Given the description of an element on the screen output the (x, y) to click on. 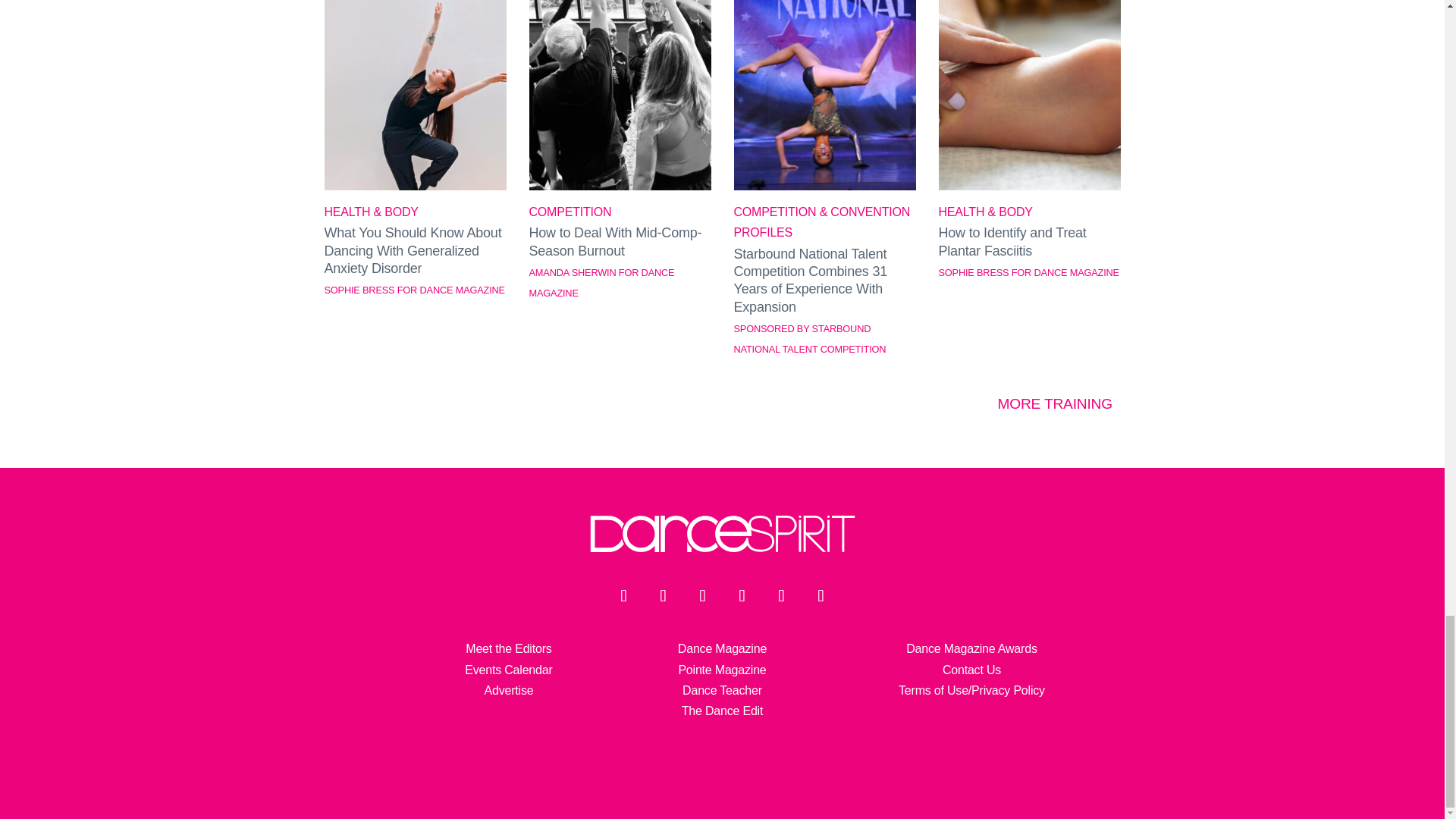
How to Deal With Mid-Comp-Season Burnout (620, 185)
Follow on LinkedIn (780, 595)
Follow on Pinterest (820, 595)
Follow on Instagram (702, 595)
Follow on Youtube (741, 595)
How to Identify and Treat Plantar Fasciitis (1030, 185)
Follow on Facebook (623, 595)
Follow on Twitter (662, 595)
